Given the description of an element on the screen output the (x, y) to click on. 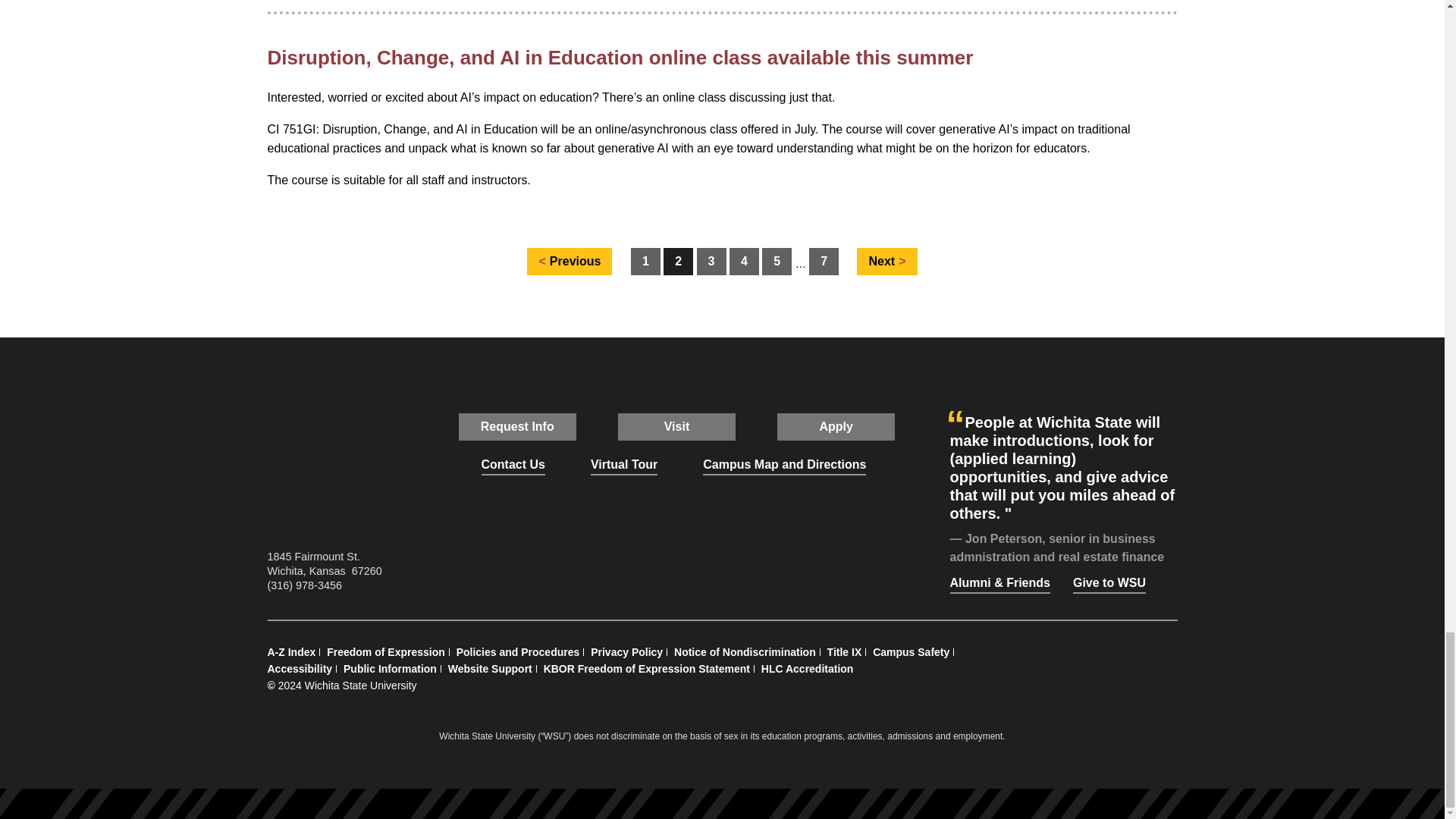
Facebook (605, 562)
